Given the description of an element on the screen output the (x, y) to click on. 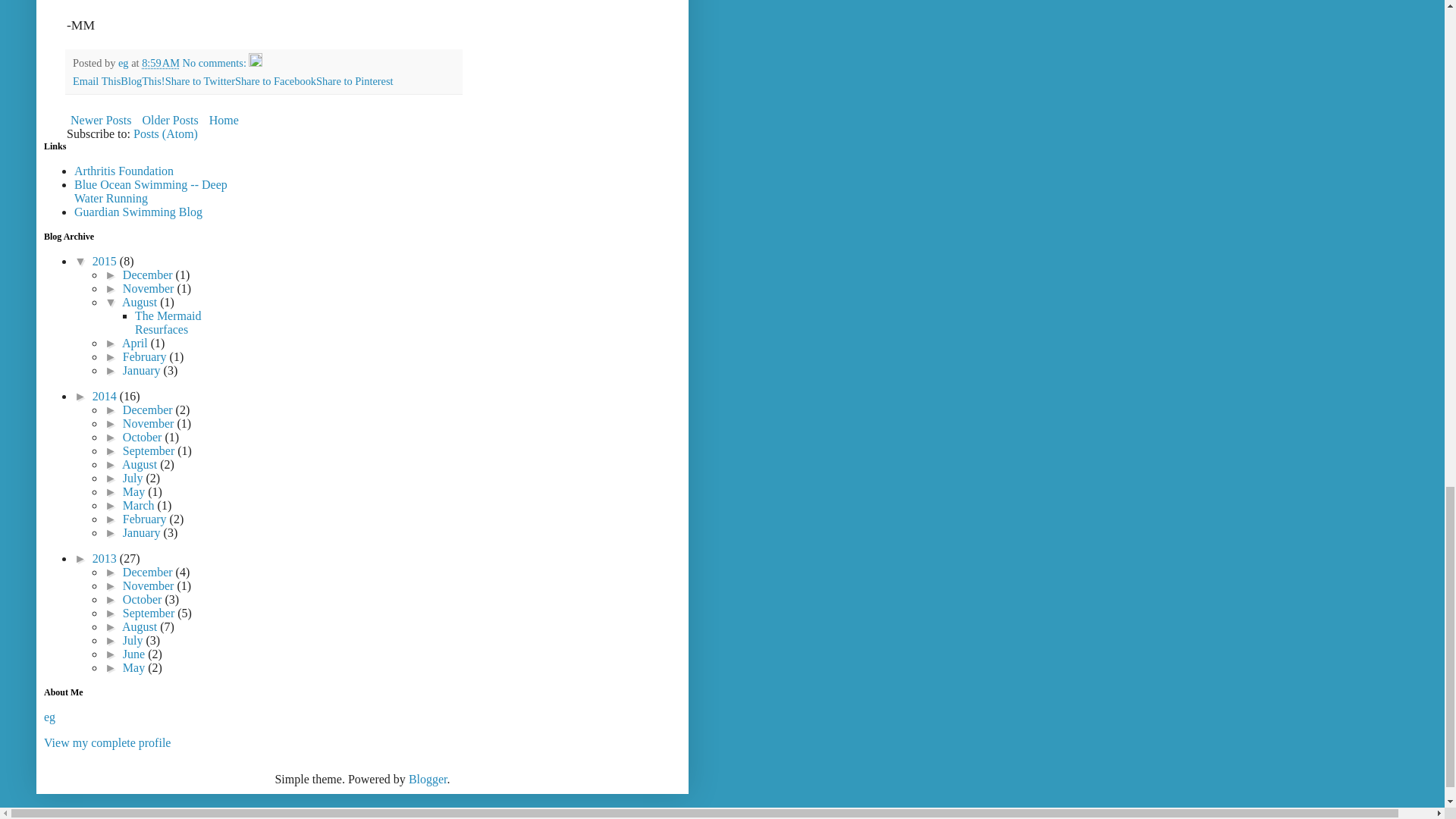
eg (124, 62)
Older Posts (170, 119)
BlogThis! (142, 80)
December (149, 274)
Email This (96, 80)
Share to Facebook (274, 80)
Email This (96, 80)
Newer Posts (100, 119)
April (136, 342)
Older Posts (170, 119)
Blue Ocean Swimming -- Deep Water Running (150, 191)
Guardian Swimming Blog (138, 211)
February (146, 356)
November (149, 287)
permanent link (160, 62)
